Given the description of an element on the screen output the (x, y) to click on. 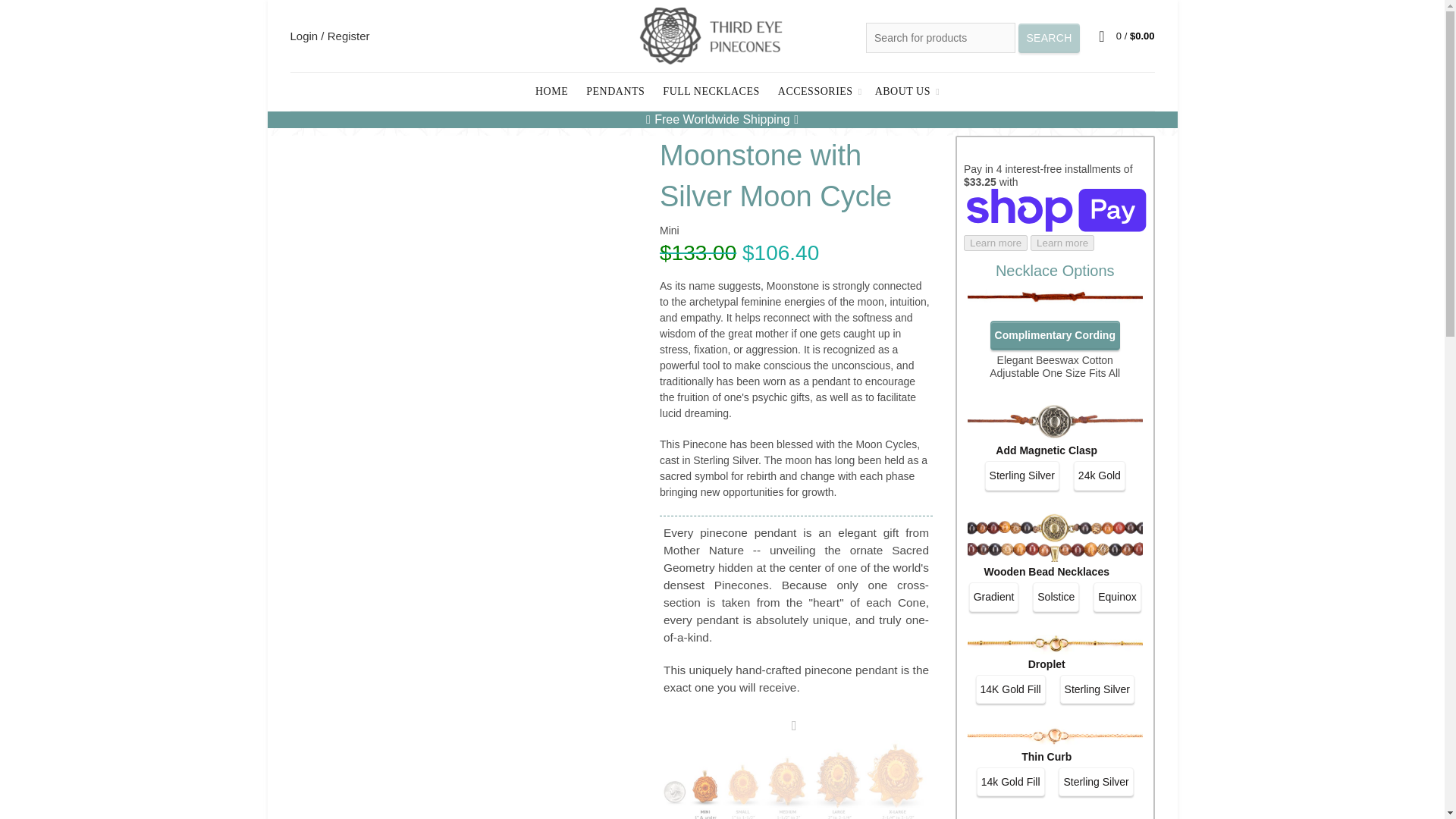
HOME (551, 91)
PENDANTS (614, 91)
FULL NECKLACES (710, 91)
SEARCH (1048, 37)
